Given the description of an element on the screen output the (x, y) to click on. 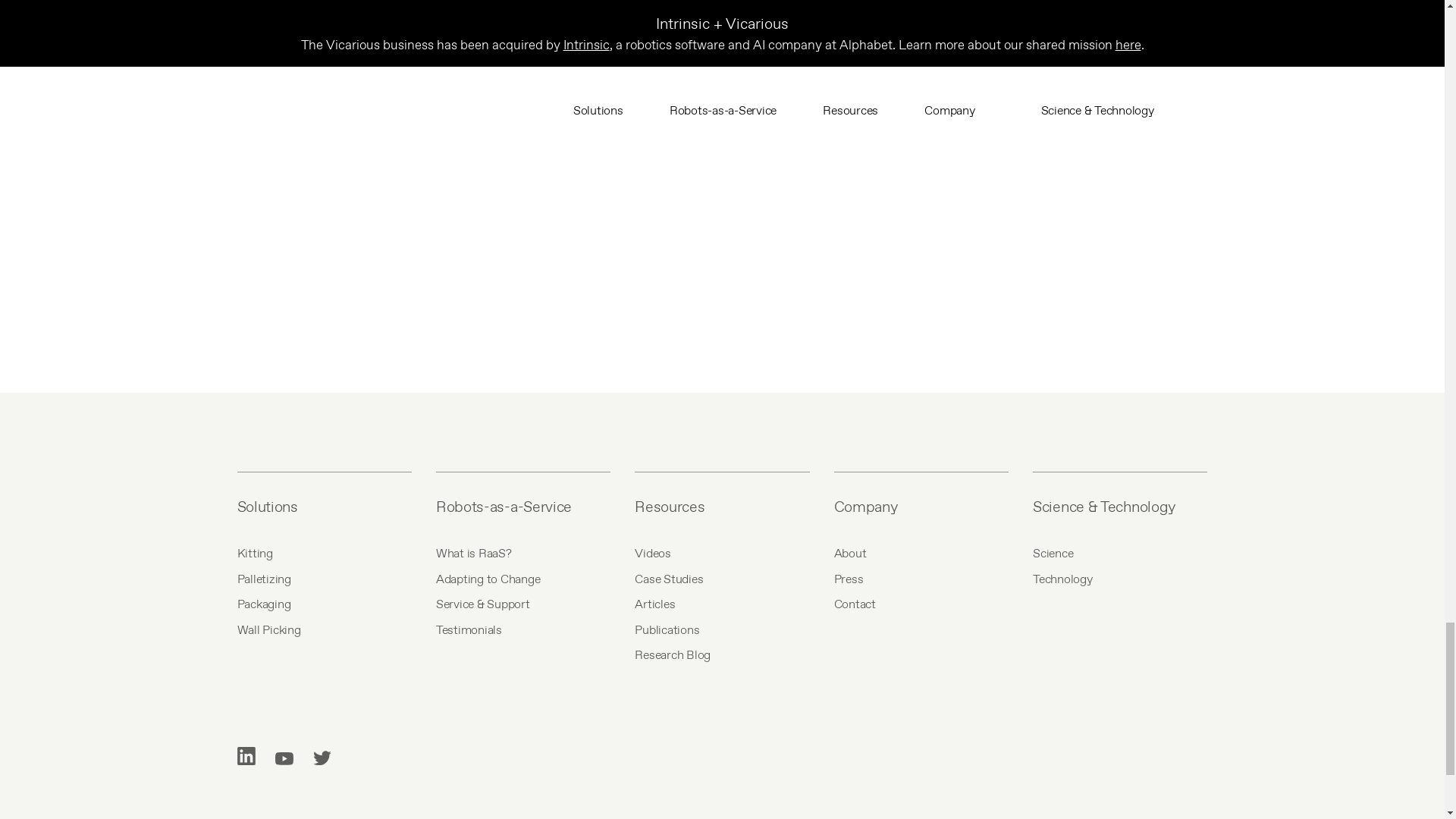
Adapting to Change (522, 579)
Resources (721, 506)
Palletizing (322, 579)
What is RaaS? (522, 553)
Solutions (322, 506)
Kitting (322, 553)
Testimonials (522, 629)
Packaging (322, 604)
Robots-as-a-Service (522, 506)
Wall Picking (322, 629)
